Given the description of an element on the screen output the (x, y) to click on. 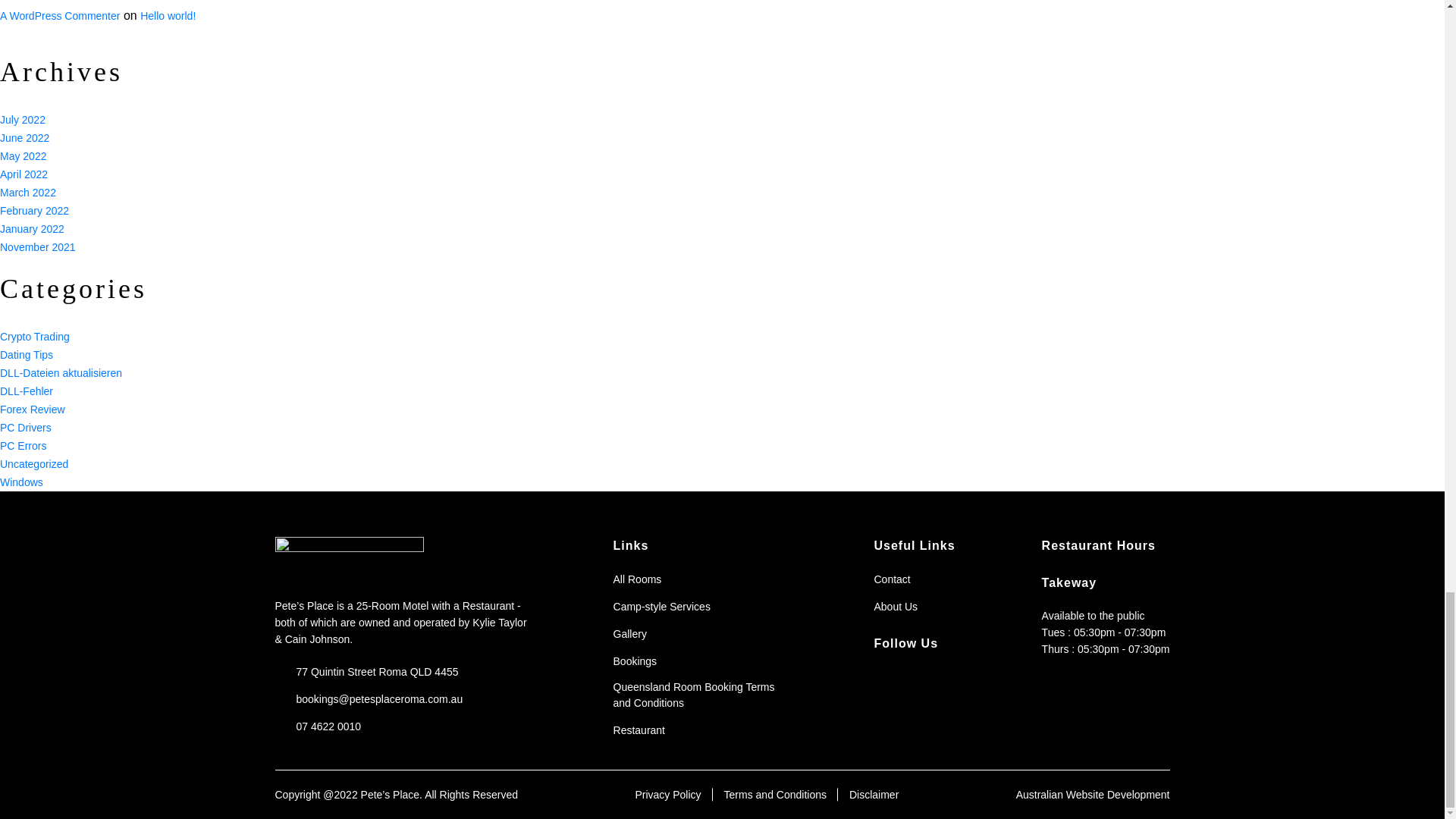
April 2022 (24, 173)
PC Errors (23, 445)
Dating Tips (26, 354)
May 2022 (23, 155)
Crypto Trading (34, 336)
A WordPress Commenter (59, 15)
July 2022 (22, 119)
June 2022 (24, 137)
Hello world! (167, 15)
February 2022 (34, 210)
